Given the description of an element on the screen output the (x, y) to click on. 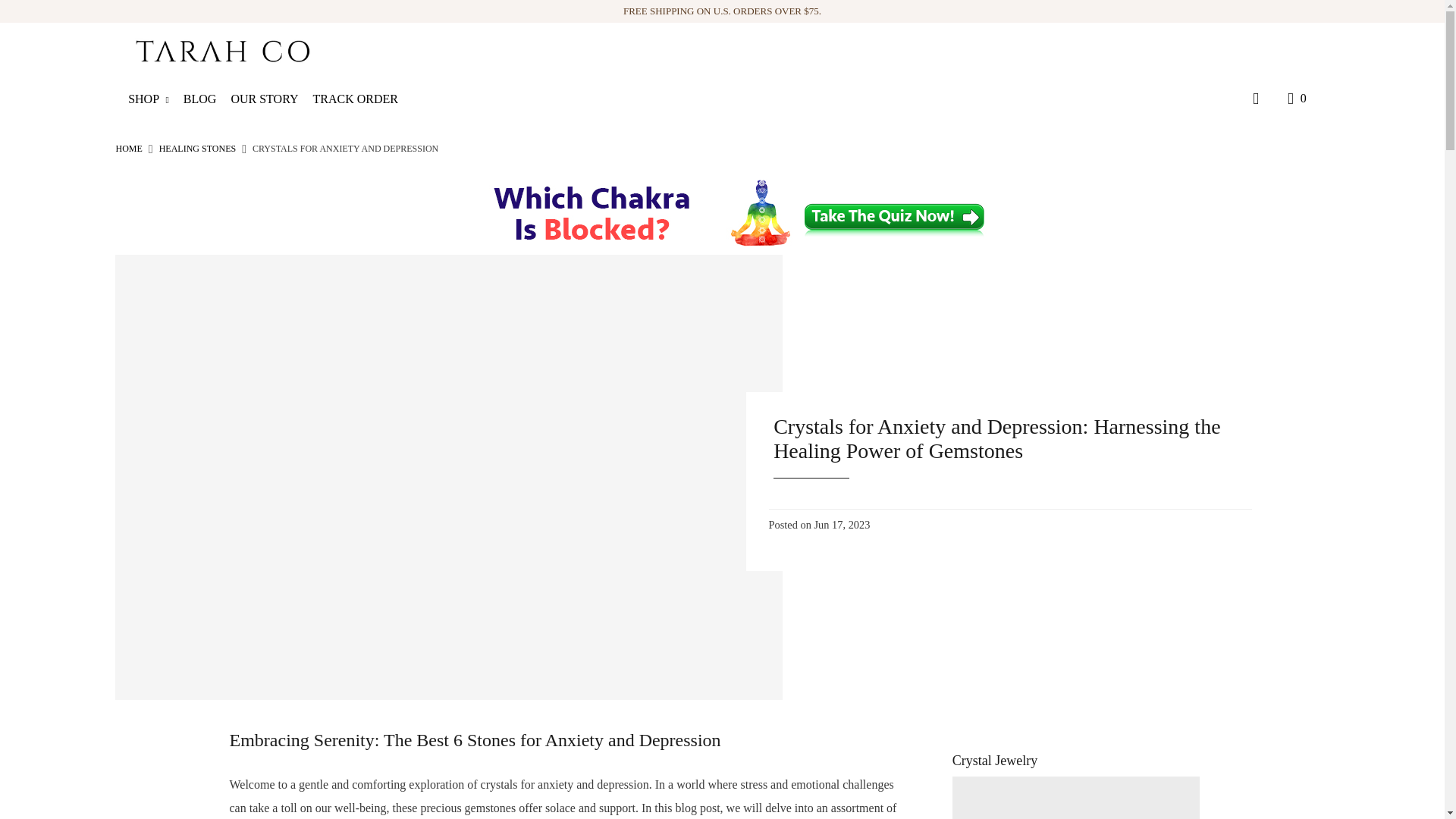
SHOP (154, 98)
  0   (1294, 98)
TRACK ORDER (361, 98)
OUR STORY (269, 98)
BLOG (205, 98)
Whispering Bliss Gemstone Pendant (1075, 797)
Home (128, 148)
